Given the description of an element on the screen output the (x, y) to click on. 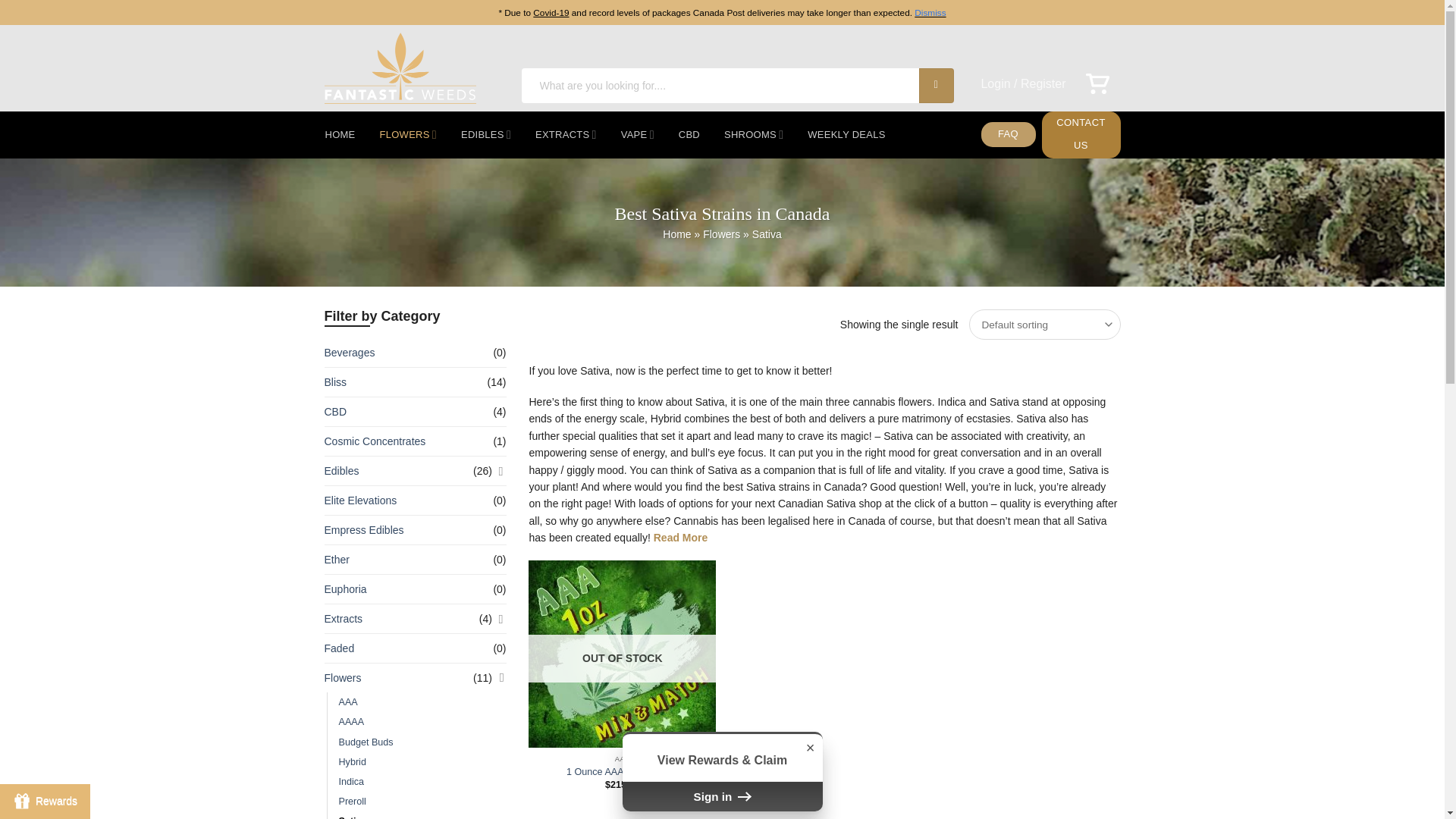
CBD (689, 134)
FLOWERS (408, 134)
CONTACT US (1081, 134)
FAQ (1008, 134)
Flowers (721, 234)
Dismiss (929, 12)
VAPE (637, 134)
SHROOMS (753, 134)
HOME (339, 134)
Search (935, 85)
WEEKLY DEALS (845, 134)
Covid-19 (550, 12)
Home (676, 234)
EDIBLES (485, 134)
EXTRACTS (565, 134)
